Given the description of an element on the screen output the (x, y) to click on. 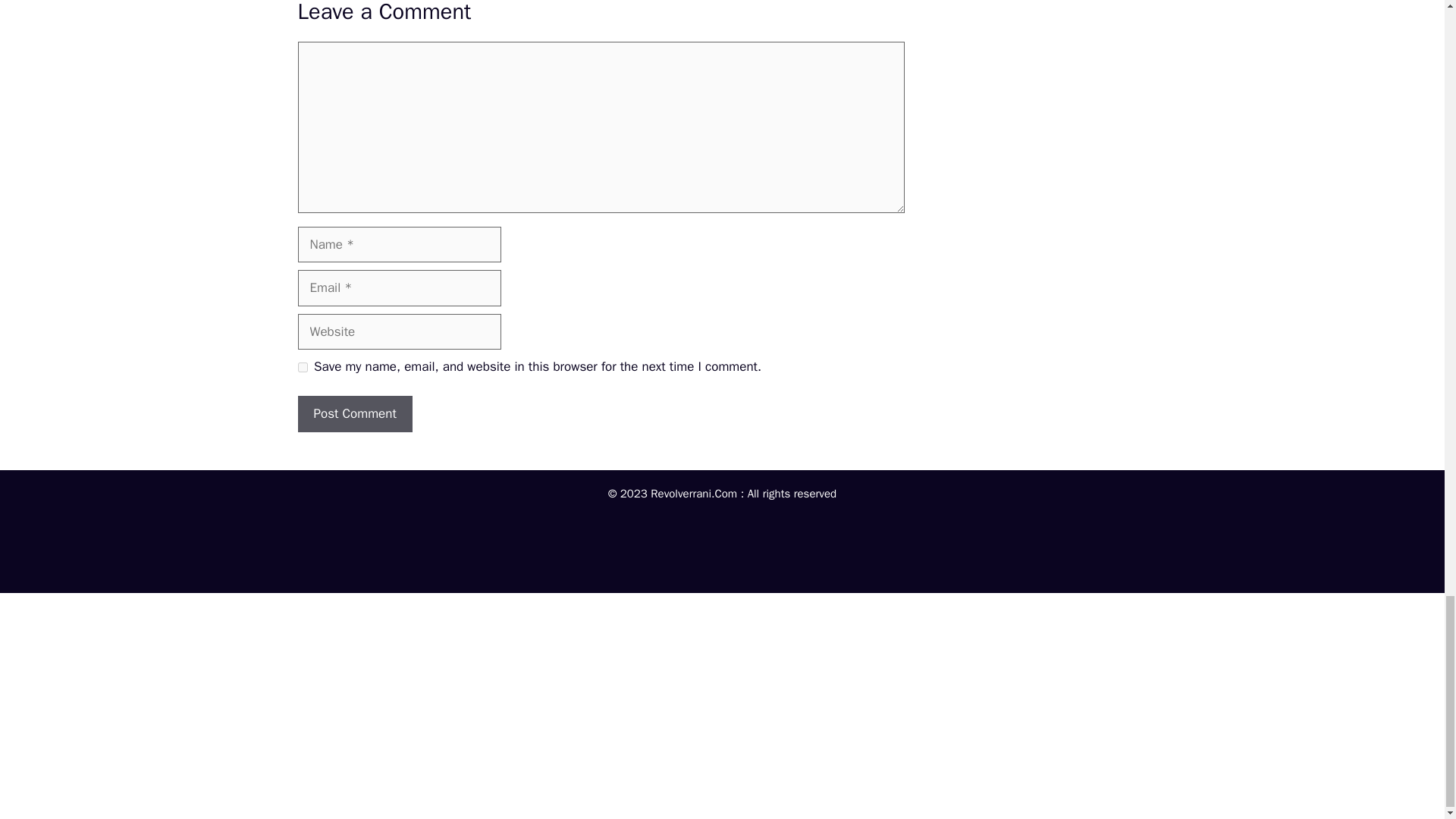
yes (302, 367)
Post Comment (354, 413)
Post Comment (354, 413)
